Given the description of an element on the screen output the (x, y) to click on. 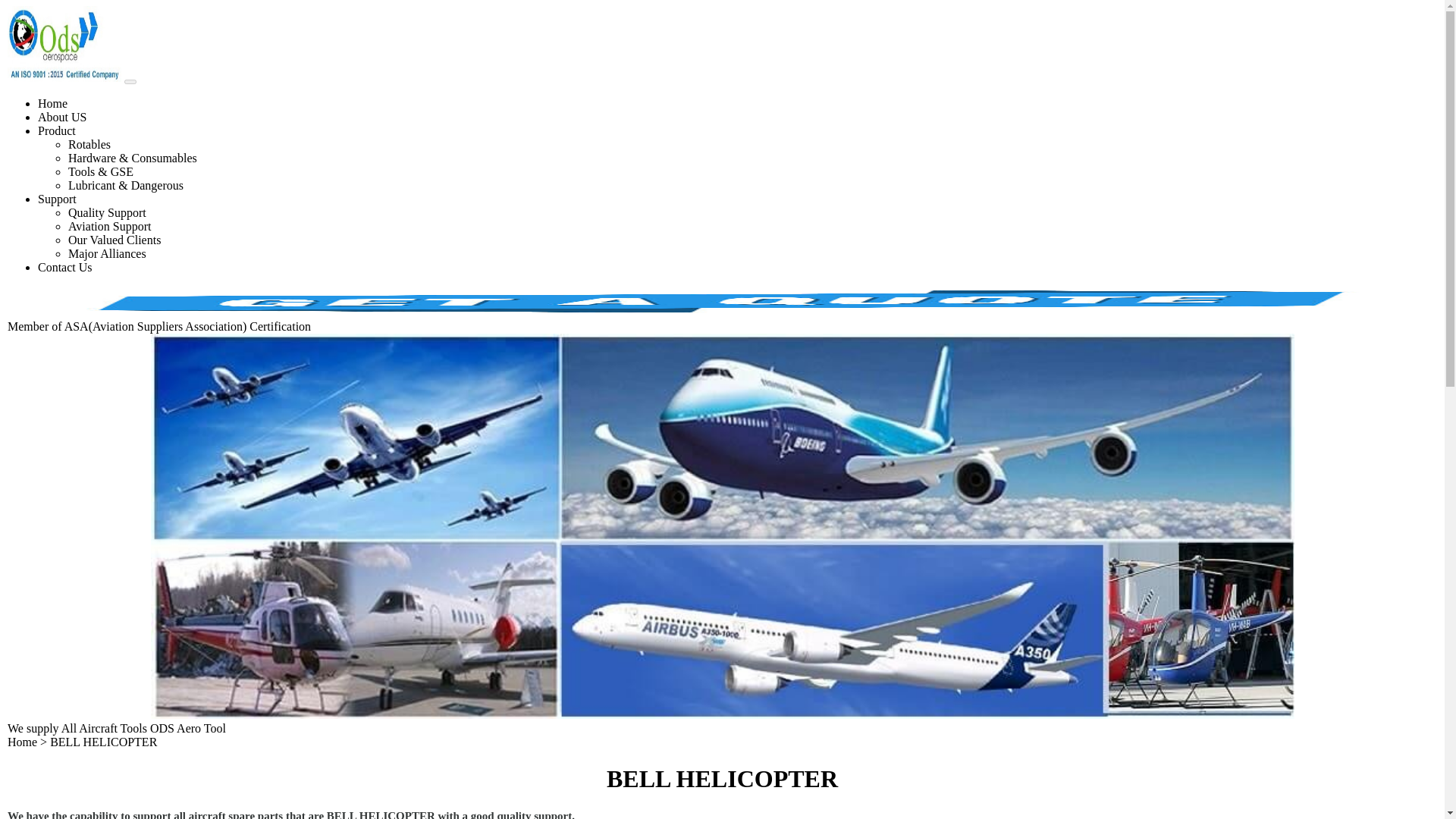
Major Alliances (107, 253)
Contact Us (65, 267)
Home (22, 741)
Rotables (89, 144)
ODS Aero Tool (187, 727)
Aviation Support (109, 226)
Our Valued Clients (114, 239)
Quality Support (107, 212)
Home (51, 103)
Support (57, 198)
BELL HELICOPTER (103, 741)
Product (56, 130)
About US (61, 116)
